Given the description of an element on the screen output the (x, y) to click on. 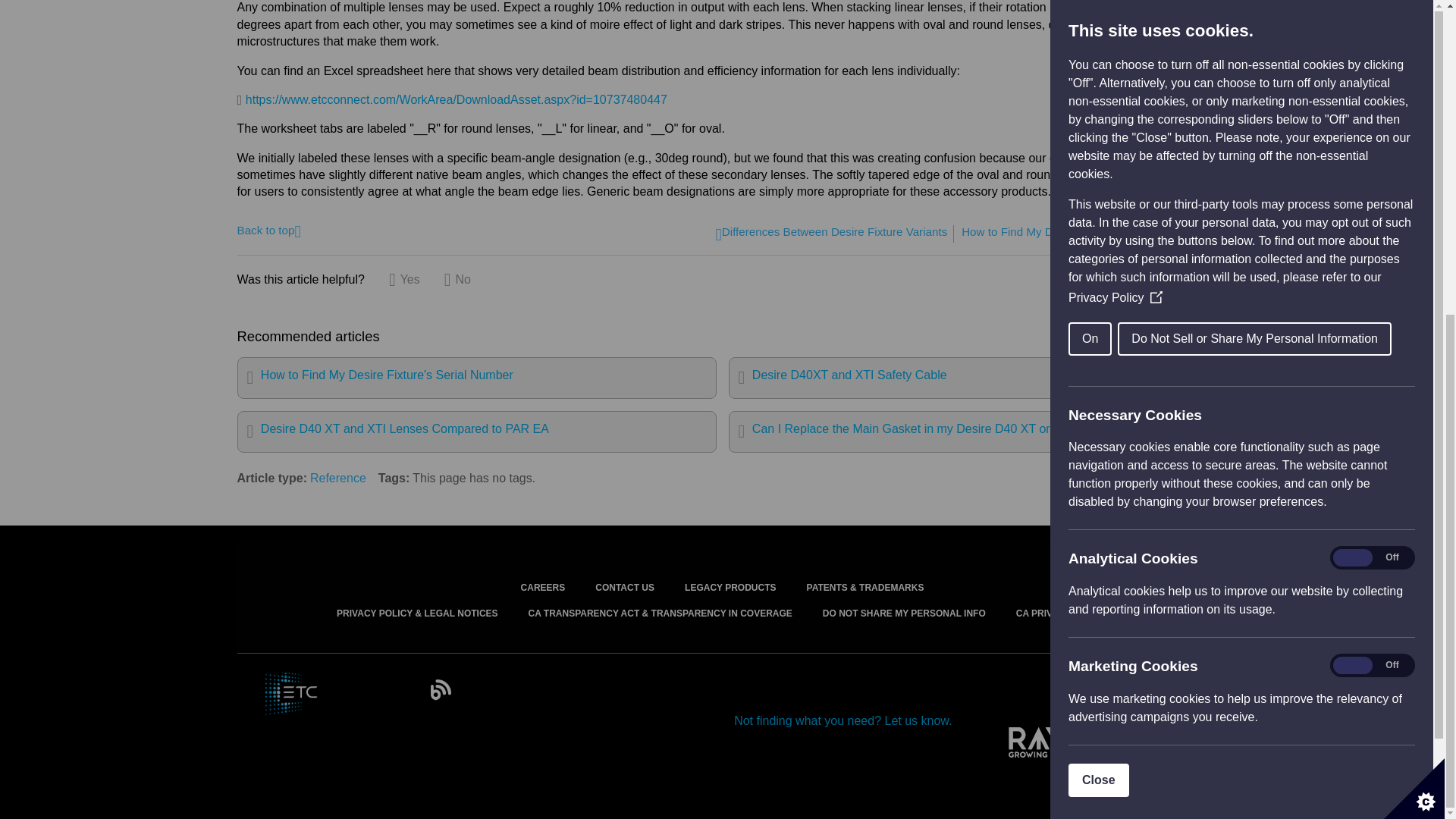
Reference (338, 477)
How to Find My Desire Fixture's Serial Number (1083, 234)
Desire D40XT and XTI Safety Cable (968, 377)
CONTACT US (624, 566)
Close (1331, 275)
How to Find My Desire Fixture's Serial Number (476, 377)
Desire D40XT and XTI Safety Cable (968, 377)
How to Find My Desire Fixture's Serial Number (1083, 234)
Yes (404, 279)
CAREERS (543, 566)
Differences Between Desire Fixture Variants (830, 234)
Desire D40 XT and XTI Lenses Compared to PAR EA (476, 431)
No (457, 279)
Jump back to top of this article (267, 229)
